Given the description of an element on the screen output the (x, y) to click on. 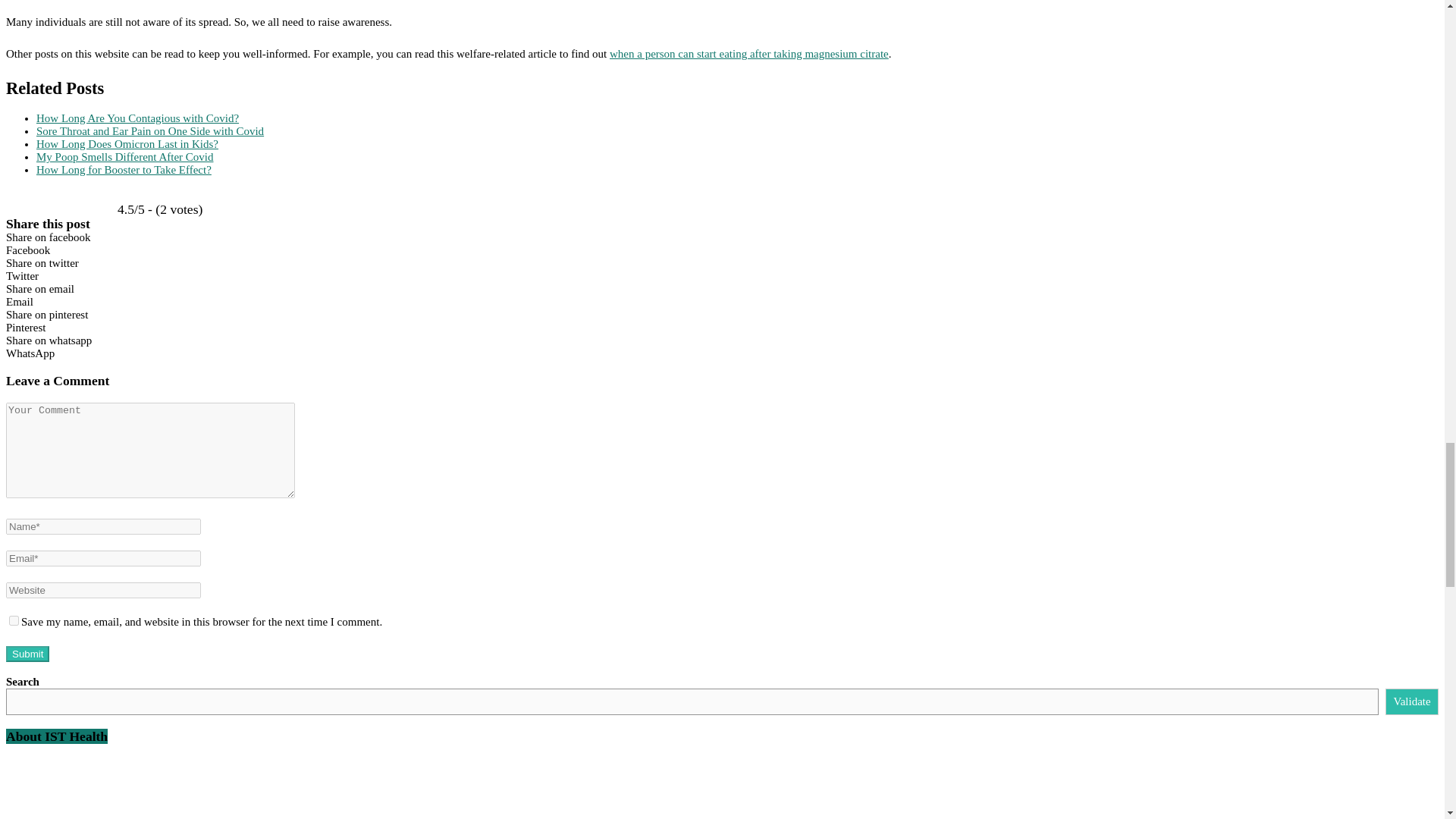
How Long Are You Contagious with Covid? (137, 118)
Sore Throat and Ear Pain on One Side with Covid (149, 131)
How Long Are You Contagious with Covid? (137, 118)
How Long for Booster to Take Effect? (123, 169)
Submit (27, 653)
yes (13, 620)
How Long Does Omicron Last in Kids? (127, 143)
Submit (27, 653)
My Poop Smells Different After Covid (124, 156)
